Given the description of an element on the screen output the (x, y) to click on. 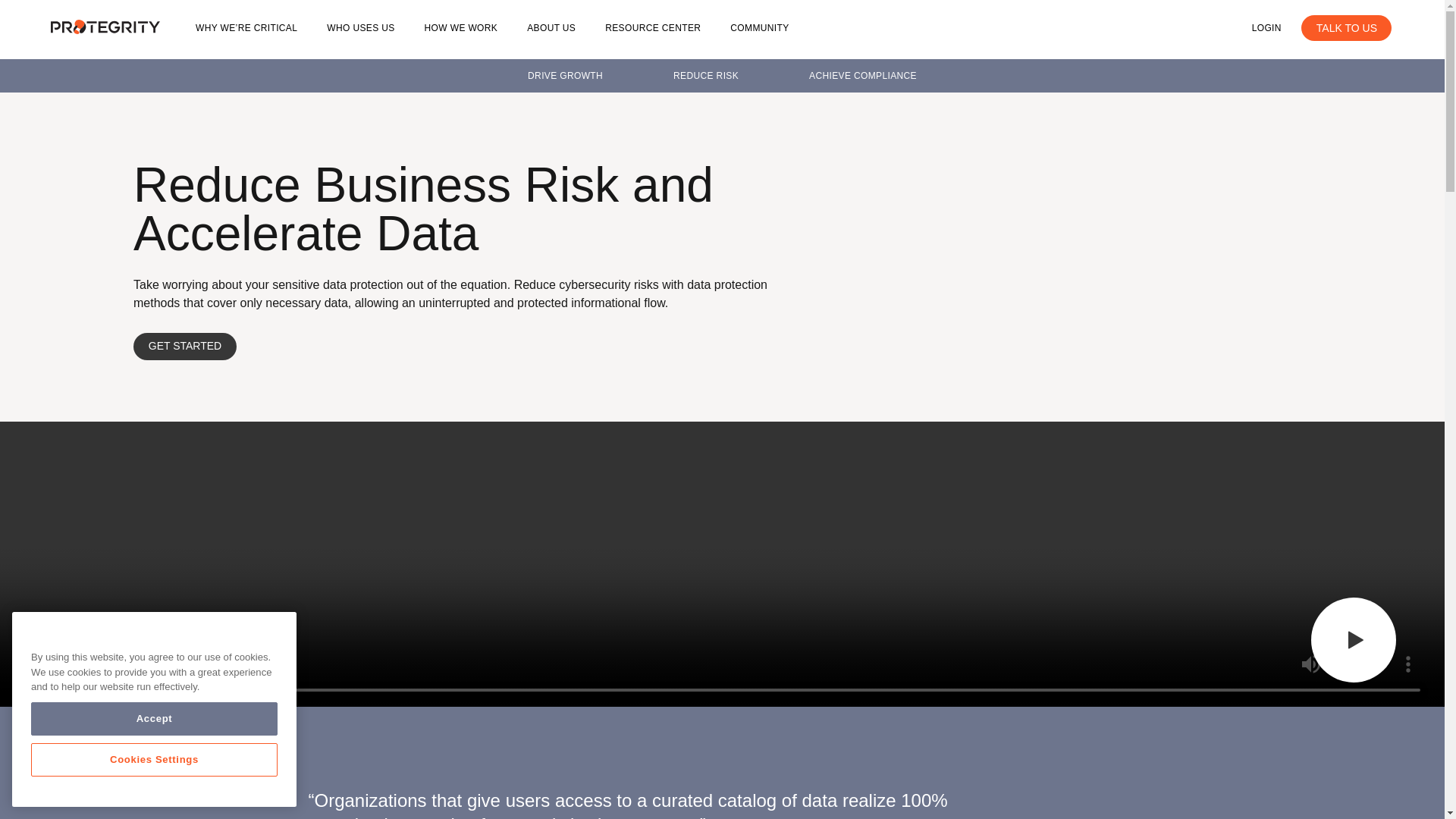
HOW WE WORK (461, 27)
TALK TO US (1346, 27)
COMMUNITY (759, 27)
GET STARTED (184, 346)
DRIVE GROWTH (564, 75)
WHO USES US (360, 27)
ACHIEVE COMPLIANCE (863, 75)
ABOUT US (551, 27)
REDUCE RISK (705, 75)
RESOURCE CENTER (652, 27)
